Given the description of an element on the screen output the (x, y) to click on. 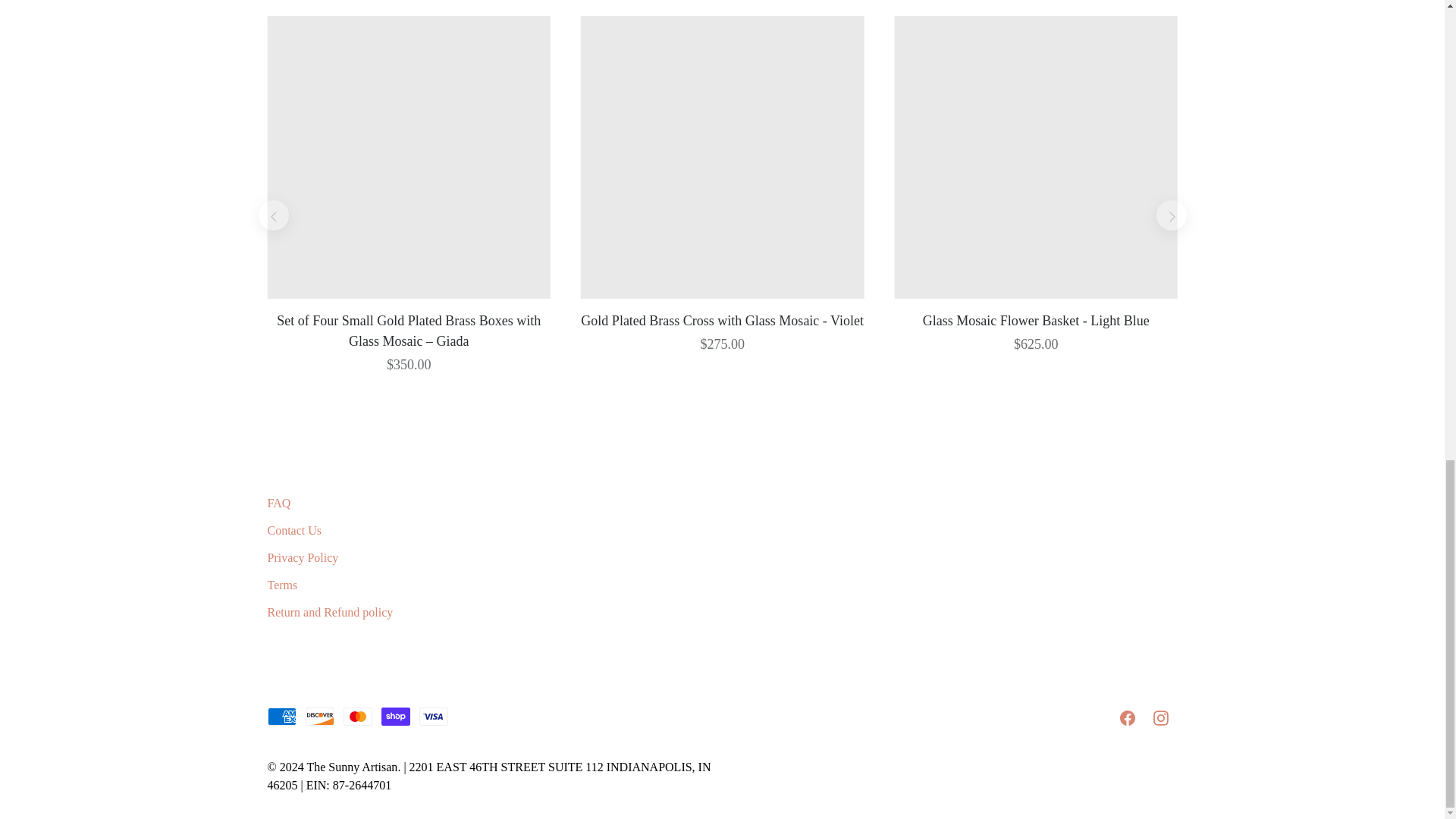
Discover (318, 716)
American Express (280, 716)
Mastercard (356, 716)
Shop Pay (394, 716)
Visa (432, 716)
